Given the description of an element on the screen output the (x, y) to click on. 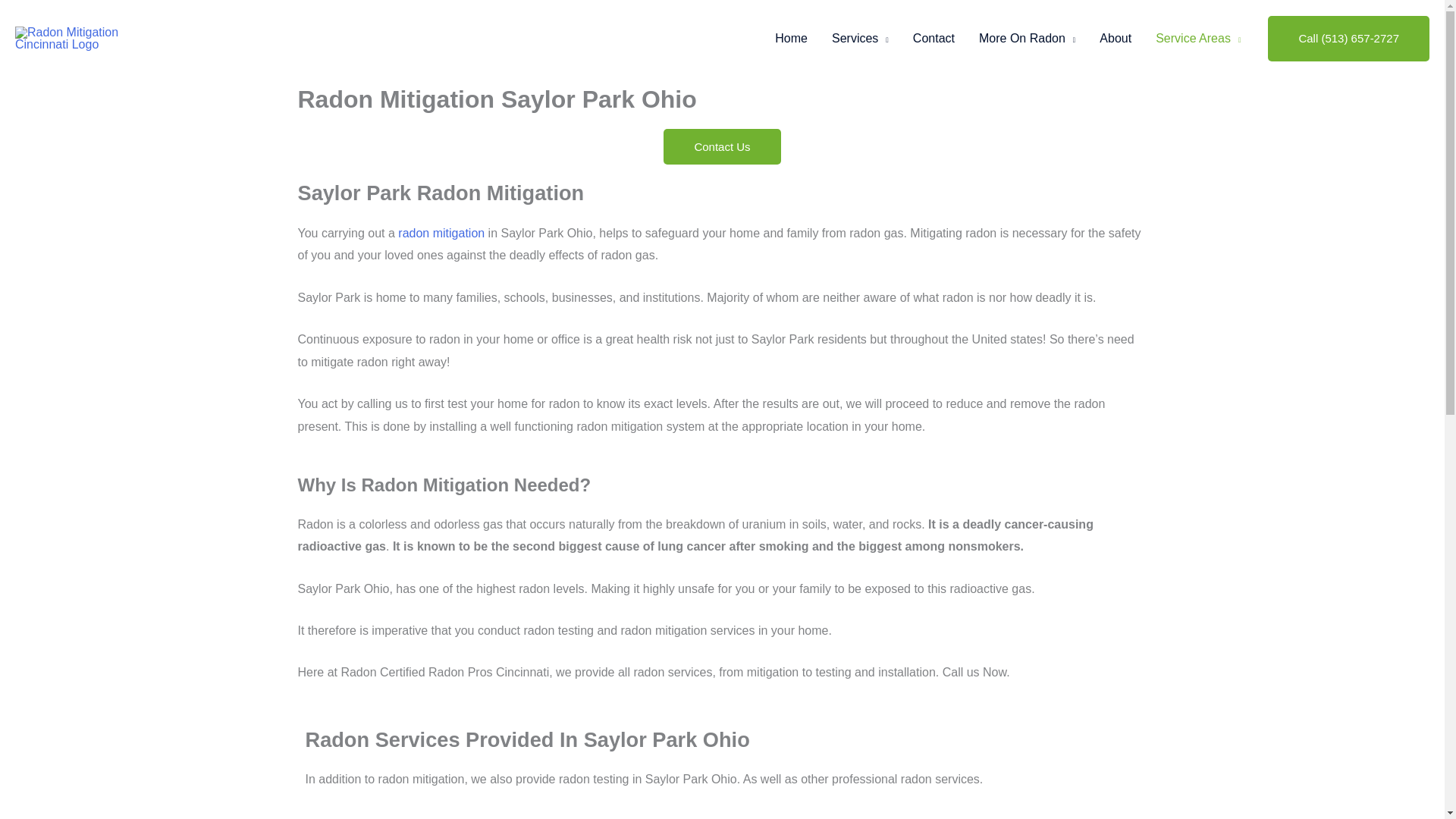
Contact (933, 38)
Home (790, 38)
About (1114, 38)
More On Radon (1026, 38)
Service Areas (1197, 38)
Services (860, 38)
